Given the description of an element on the screen output the (x, y) to click on. 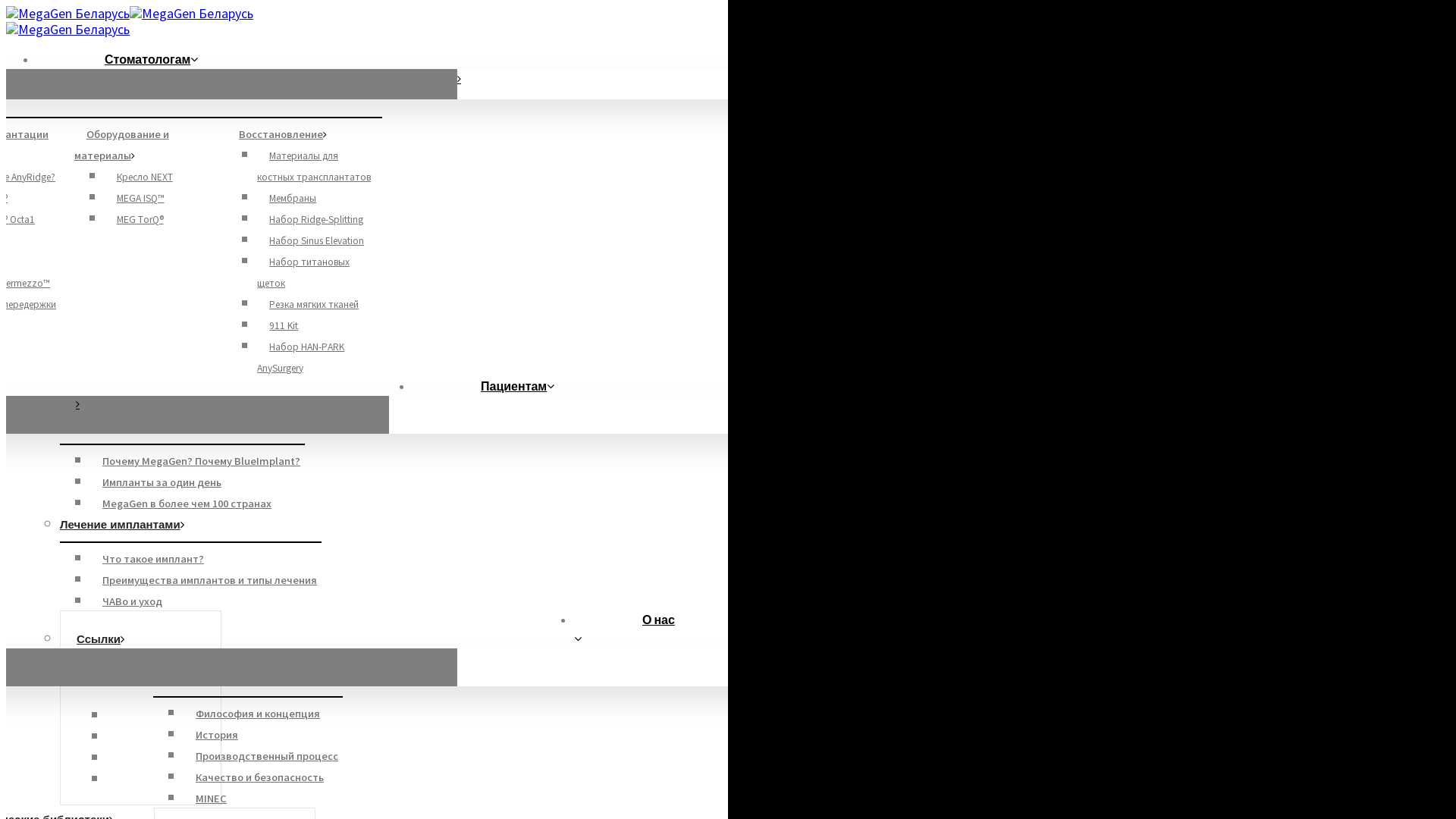
MINEC Element type: text (207, 798)
911 Kit Element type: text (277, 325)
